Given the description of an element on the screen output the (x, y) to click on. 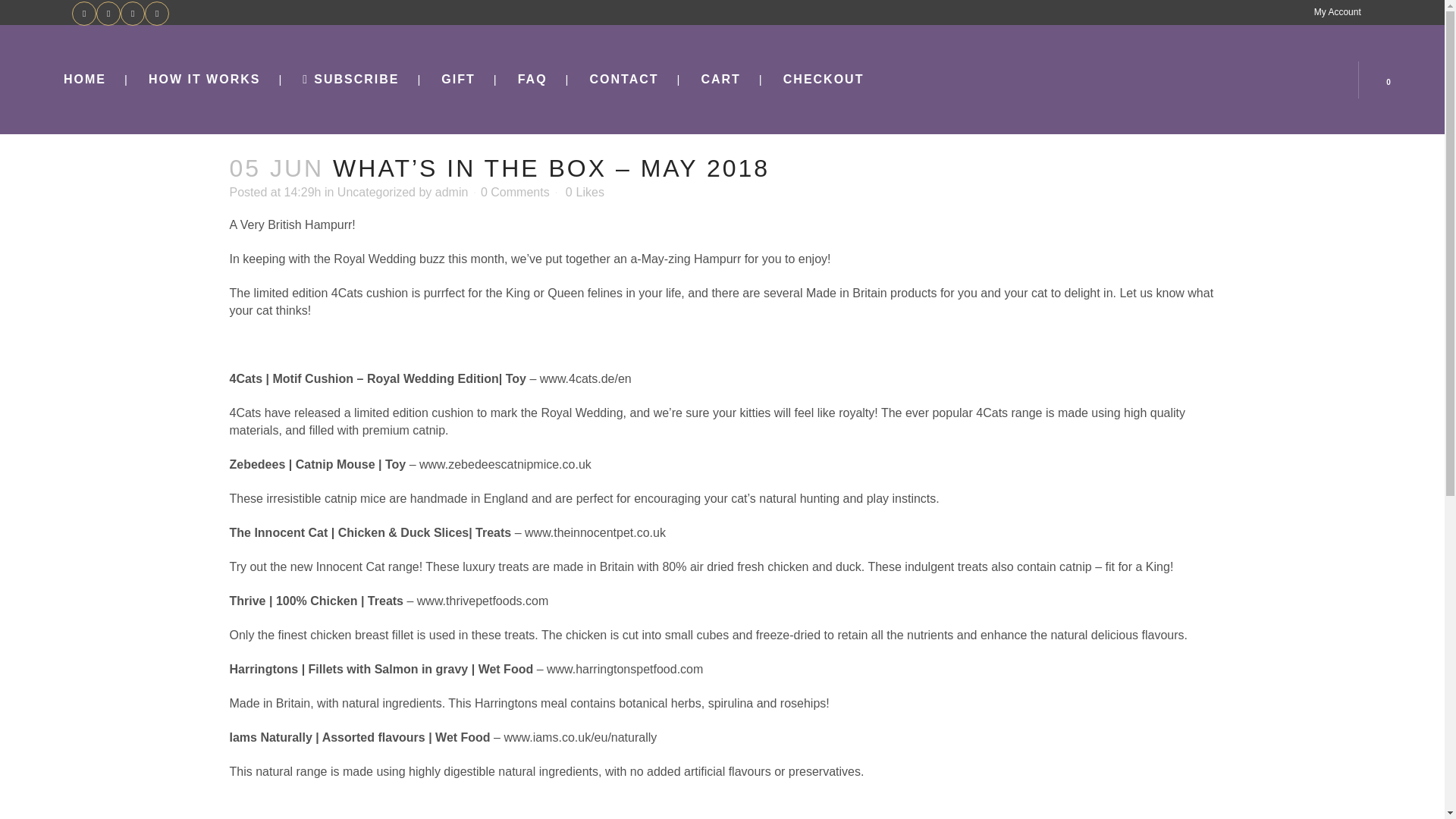
My Account (1332, 12)
admin (451, 192)
0 Likes (585, 192)
Uncategorized (375, 192)
CHECKOUT (822, 79)
CONTACT (623, 79)
0 (1391, 79)
0 Comments (515, 192)
HOW IT WORKS (205, 79)
SUBSCRIBE (350, 79)
